Given the description of an element on the screen output the (x, y) to click on. 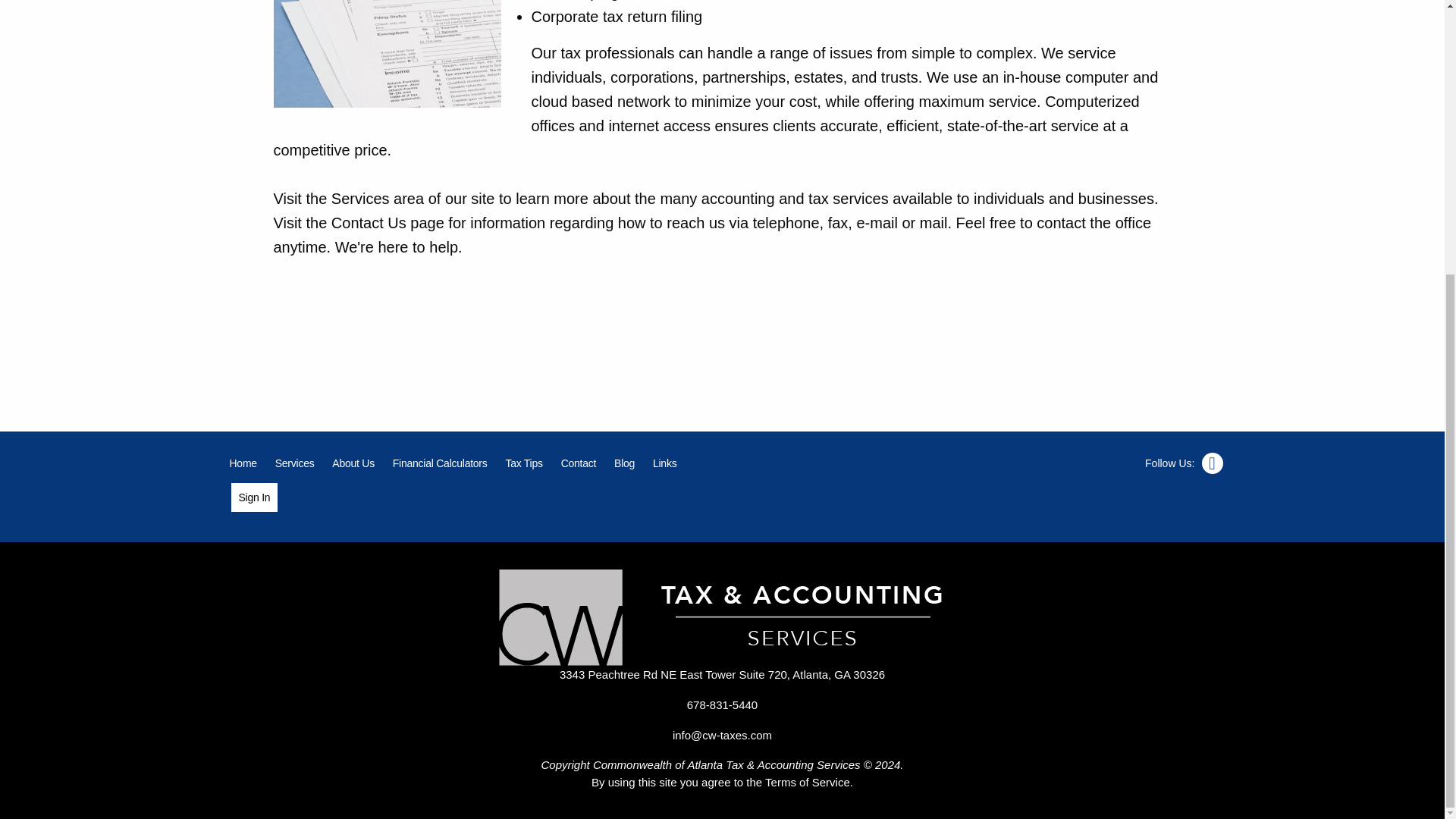
Financial Calculators (440, 463)
Tax Tips (523, 463)
Home (242, 463)
Links (664, 463)
Sign In (254, 497)
Services (294, 463)
Terms of Service (807, 781)
Blog (624, 463)
Sign In (254, 497)
About Us (352, 463)
